Given the description of an element on the screen output the (x, y) to click on. 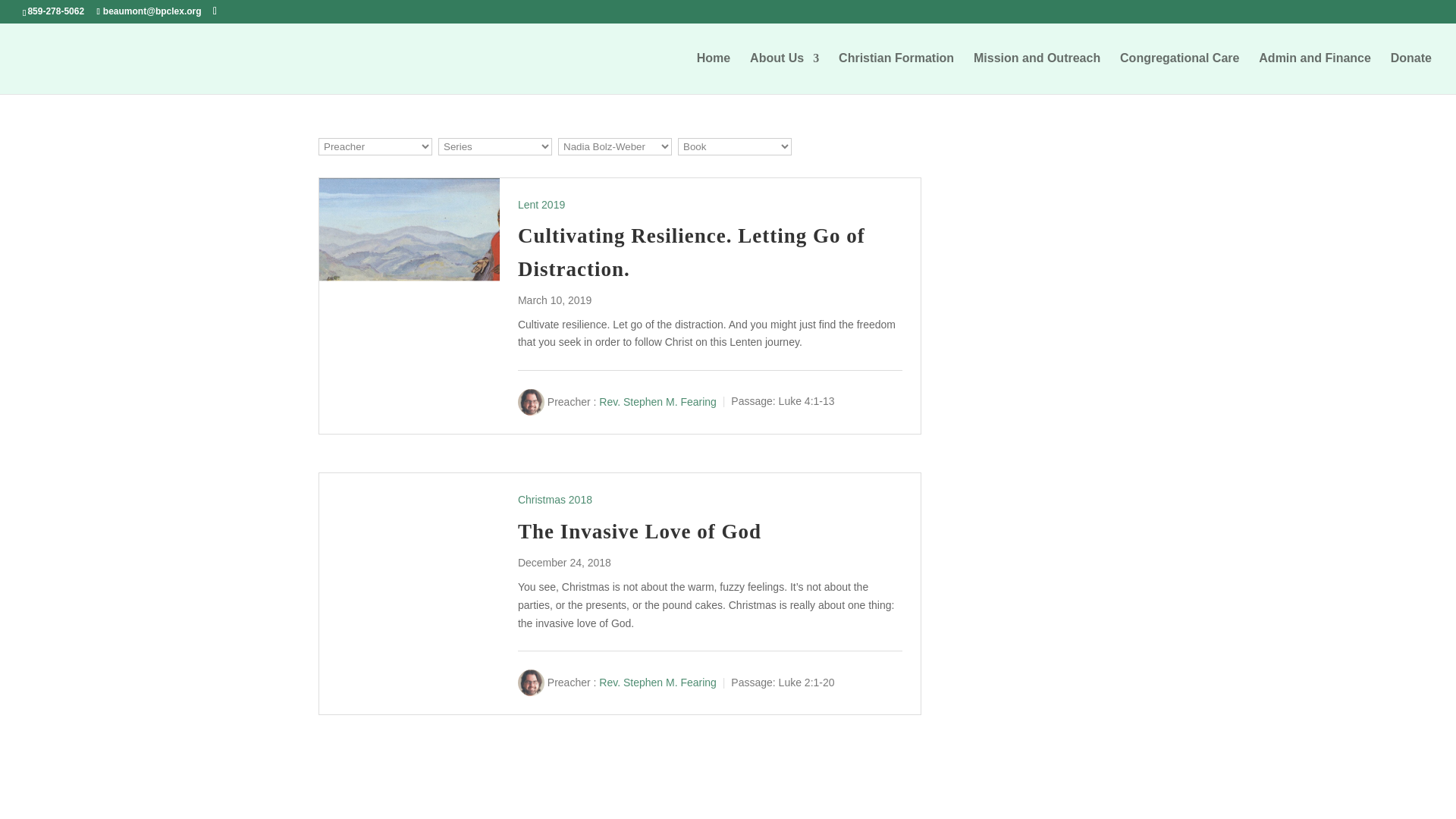
Cultivating Resilience. Letting Go of Distraction. (691, 252)
Icon pack by Icons8 (47, 8)
Rev. Stephen M. Fearing (657, 682)
Lent 2019 (541, 204)
Admin and Finance (1315, 73)
Congregational Care (1179, 73)
Book (735, 146)
Christmas 2018 (555, 499)
Mission and Outreach (1037, 73)
Donate (1410, 73)
